Given the description of an element on the screen output the (x, y) to click on. 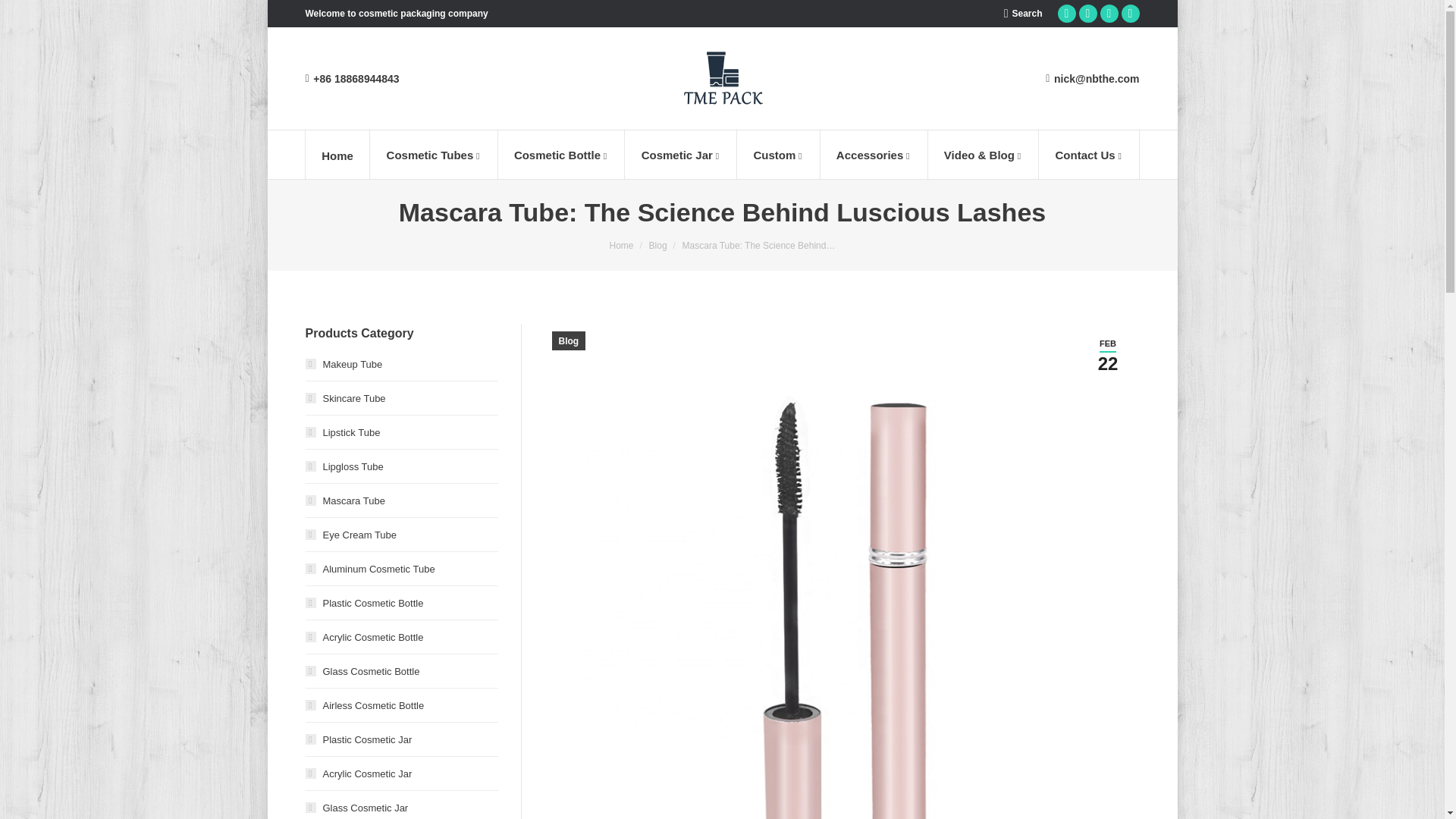
Go! (22, 14)
Search (1023, 13)
Cosmetic Jar (680, 154)
Twitter (1129, 13)
Cosmetic Tubes (433, 154)
08:43 (1108, 355)
Twitter (1129, 13)
YouTube (1066, 13)
Facebook (1108, 13)
YouTube (1066, 13)
Facebook (1108, 13)
Pinterest (1087, 13)
Custom (777, 154)
Cosmetic Bottle (560, 154)
Home (336, 154)
